Given the description of an element on the screen output the (x, y) to click on. 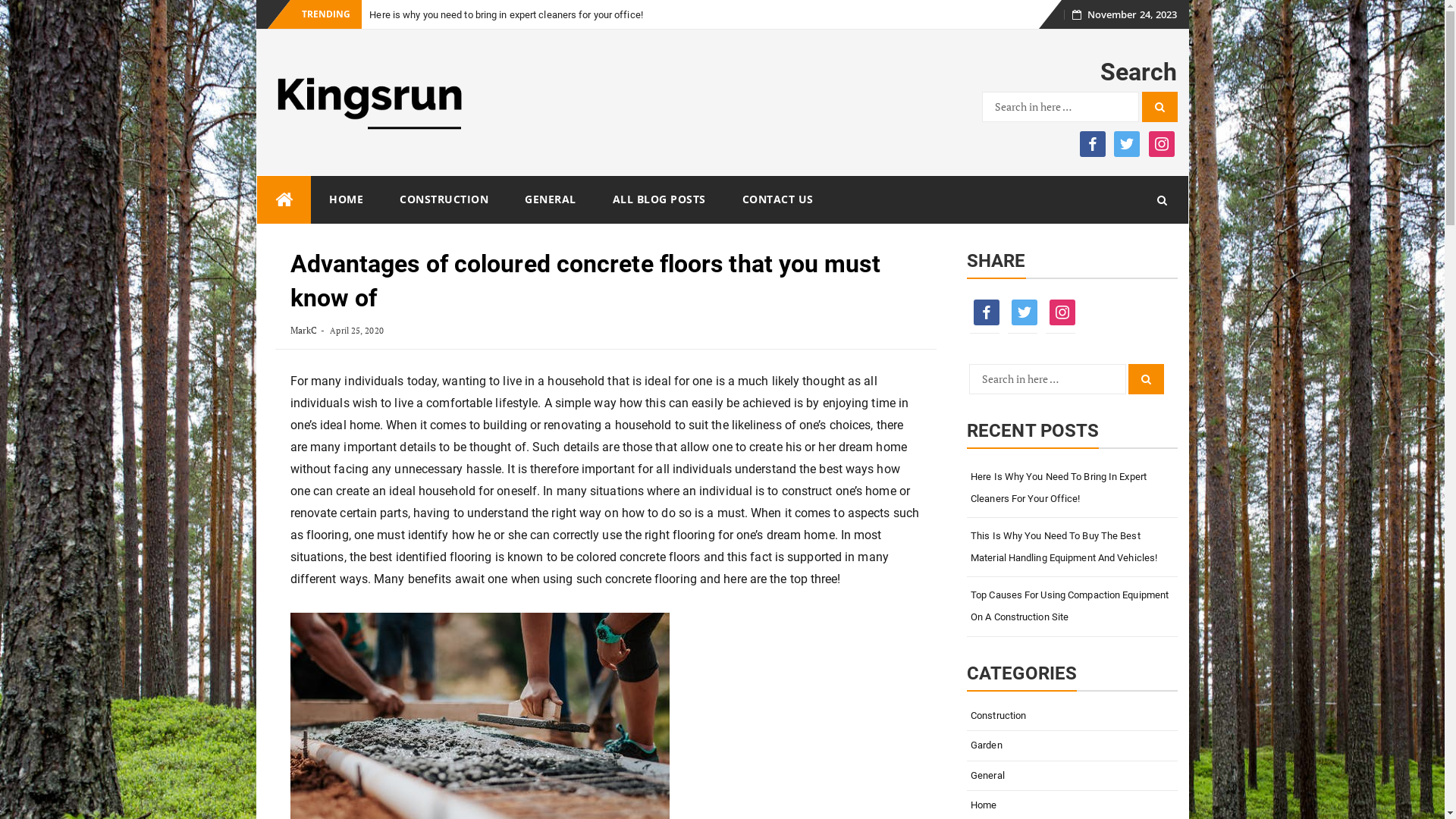
Skip to content Element type: text (1053, 17)
Facebook Element type: text (1092, 141)
Kingsrun Element type: hover (283, 199)
MarkC Element type: text (302, 329)
Facebook Element type: text (984, 312)
Search for: Element type: hover (1047, 379)
GENERAL Element type: text (550, 198)
Instagram Element type: text (1160, 141)
HOME Element type: text (345, 198)
Twitter Element type: text (1022, 312)
Search for: Element type: hover (1060, 106)
Twitter Element type: text (1126, 141)
Search Element type: text (1146, 379)
Garden Element type: text (1071, 745)
General Element type: text (1071, 775)
Instagram Element type: text (1060, 312)
Construction Element type: text (1071, 716)
CONTACT US Element type: text (777, 198)
Skip to content Element type: text (256, 175)
Search Element type: text (1159, 106)
ALL BLOG POSTS Element type: text (659, 198)
CONSTRUCTION Element type: text (443, 198)
